Given the description of an element on the screen output the (x, y) to click on. 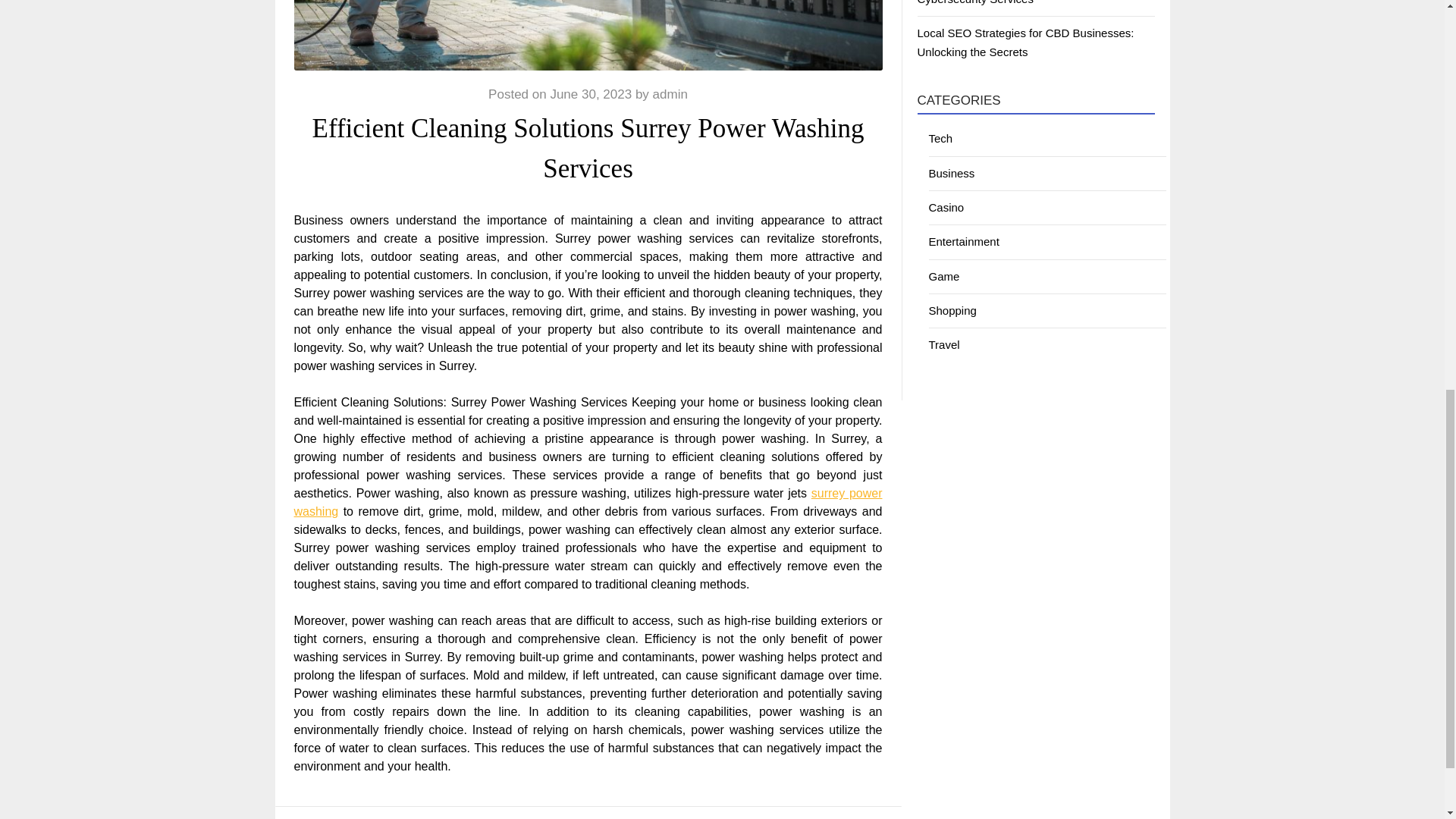
Tech (940, 137)
admin (669, 93)
Game (943, 276)
surrey power washing (588, 501)
Casino (945, 206)
June 30, 2023 (590, 93)
Travel (943, 344)
Entertainment (963, 241)
